Given the description of an element on the screen output the (x, y) to click on. 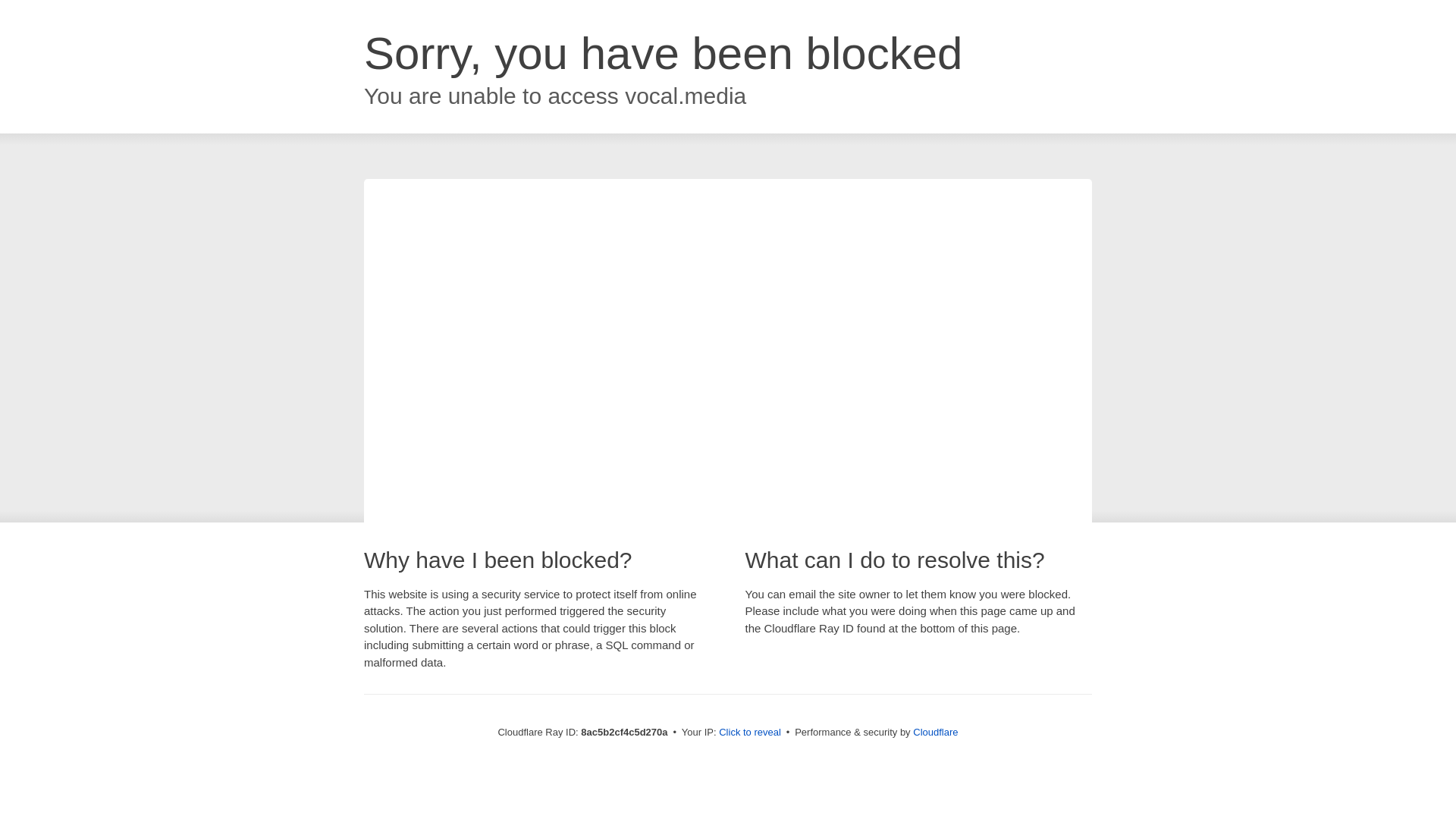
Click to reveal (749, 732)
Cloudflare (935, 731)
